Given the description of an element on the screen output the (x, y) to click on. 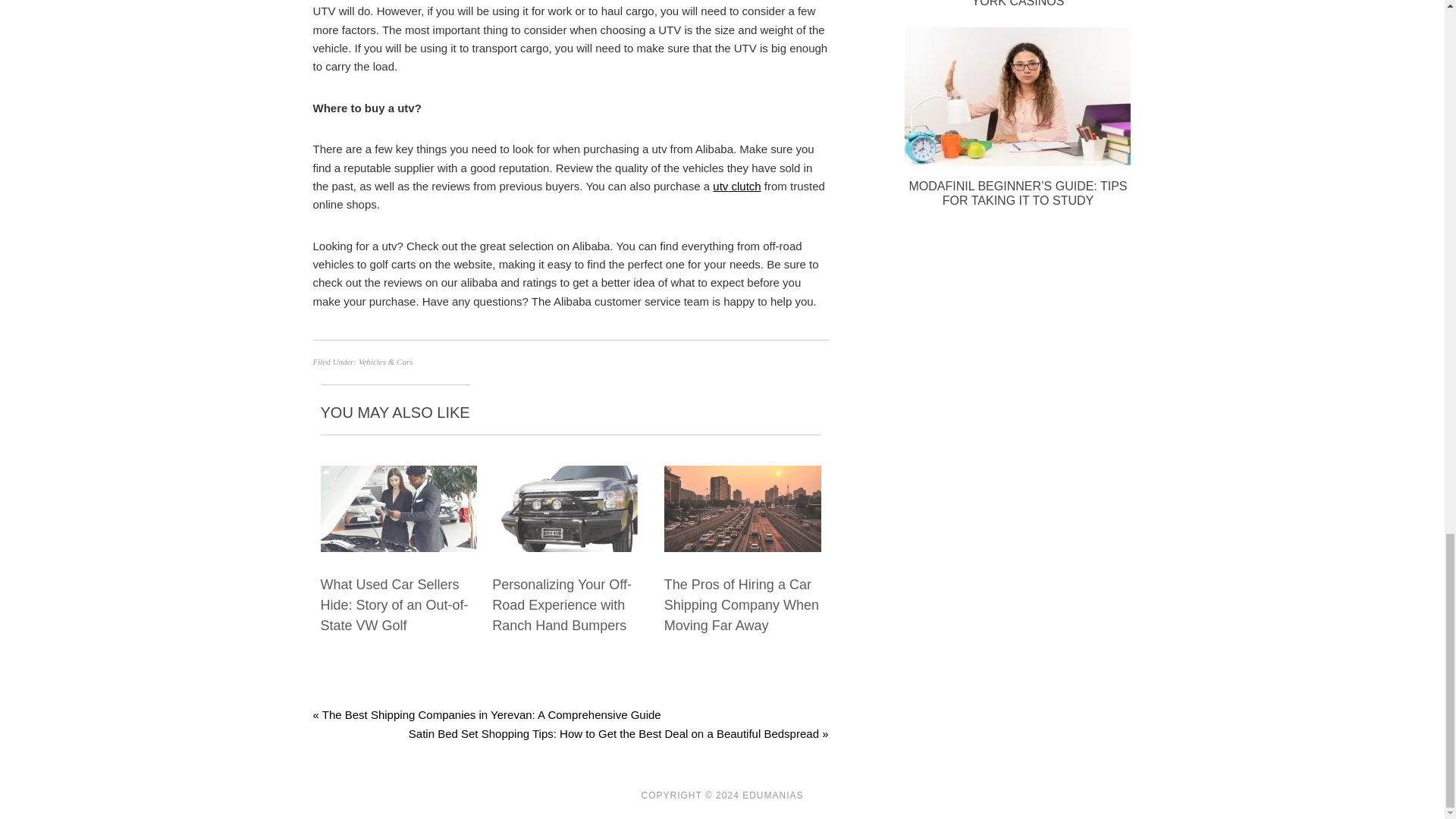
utv clutch (736, 185)
What Used Car Sellers Hide: Story of an Out-of-State VW Golf (393, 605)
